Given the description of an element on the screen output the (x, y) to click on. 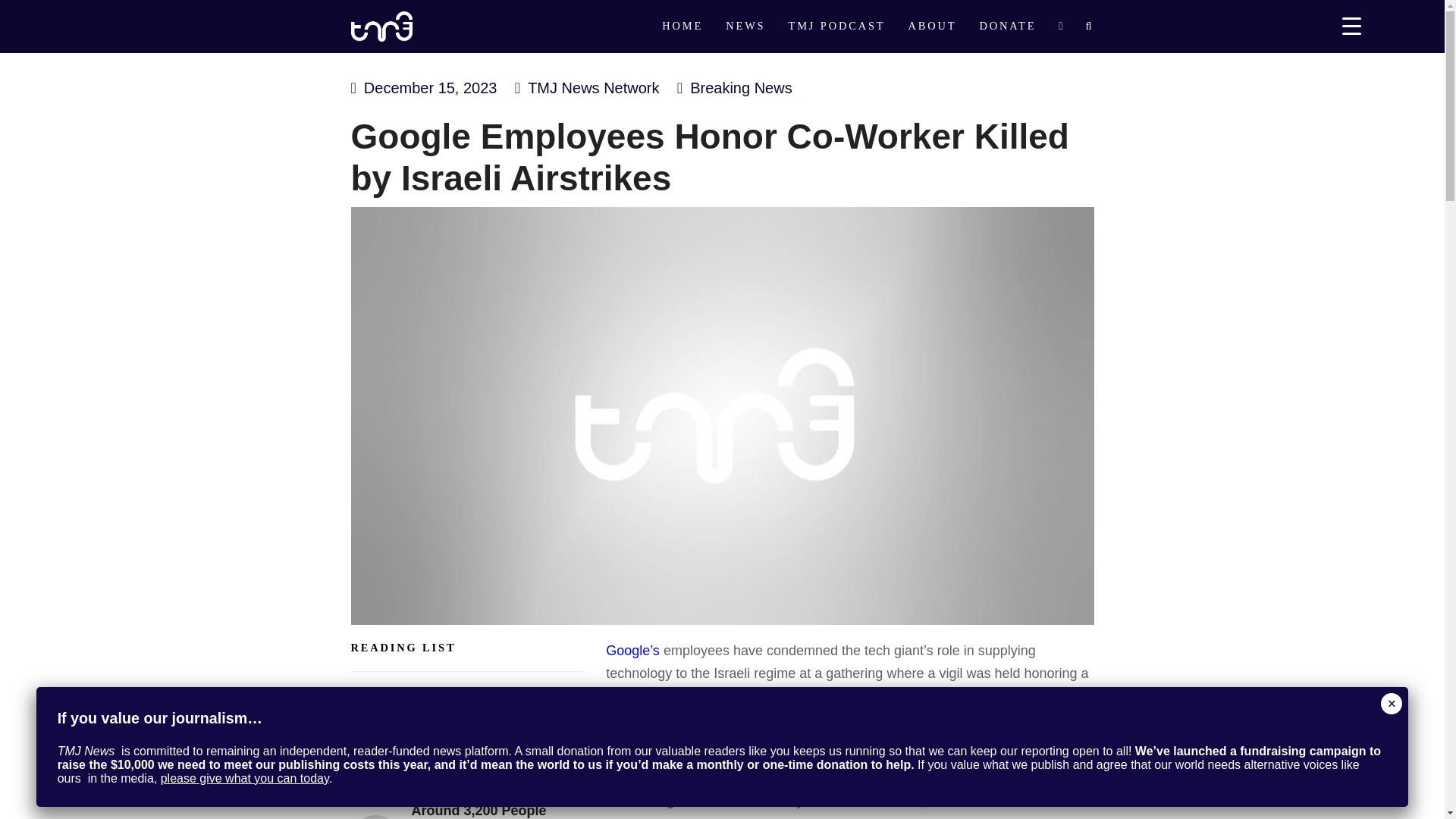
DONATE (1007, 26)
NEWS (745, 26)
Breaking News (741, 87)
Posts by TMJ News Network (593, 87)
TMJ PODCAST (836, 26)
ABOUT (932, 26)
HOME (682, 26)
TMJ News Network (593, 87)
